Given the description of an element on the screen output the (x, y) to click on. 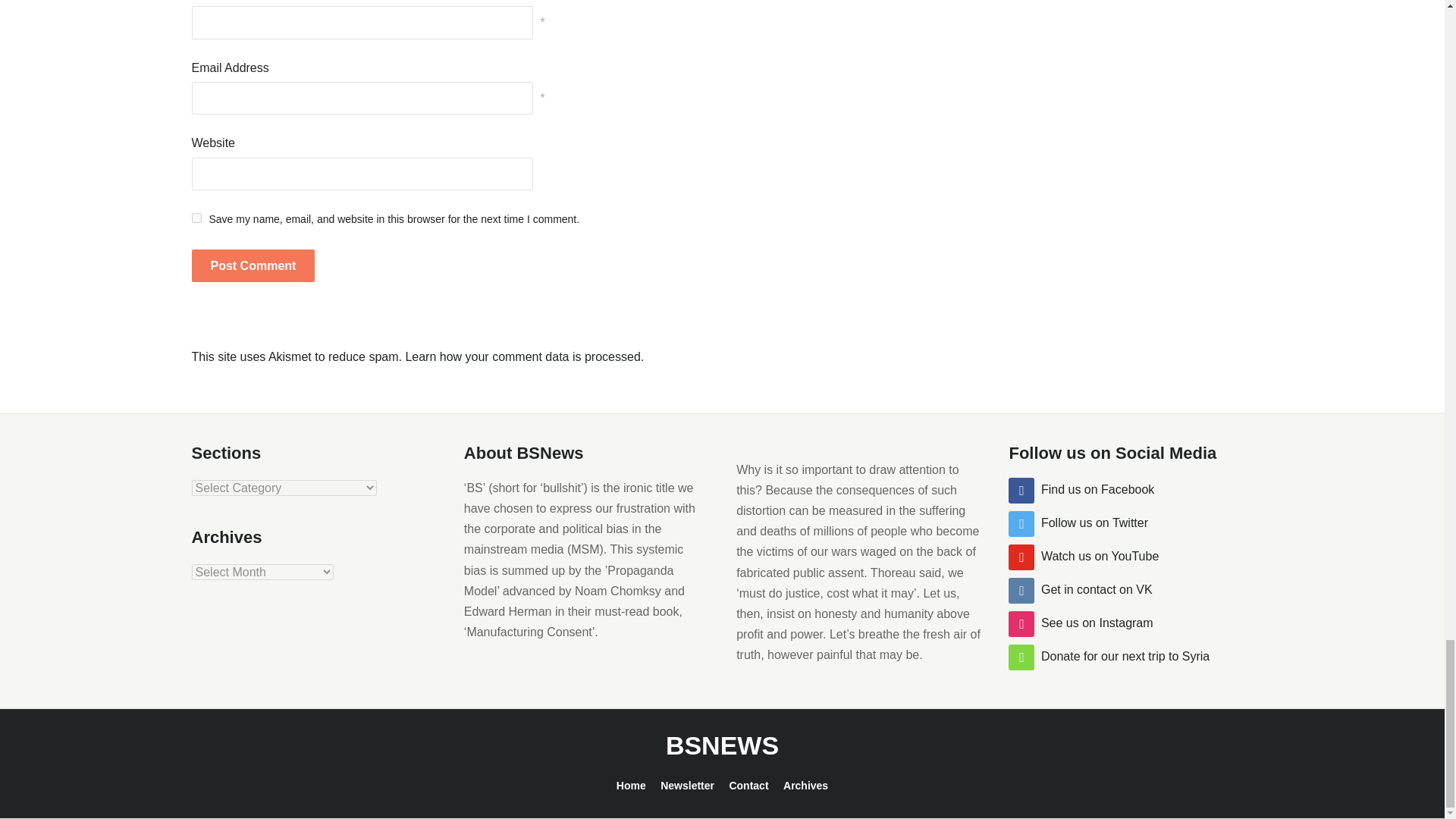
yes (195, 217)
Post Comment (252, 265)
